Given the description of an element on the screen output the (x, y) to click on. 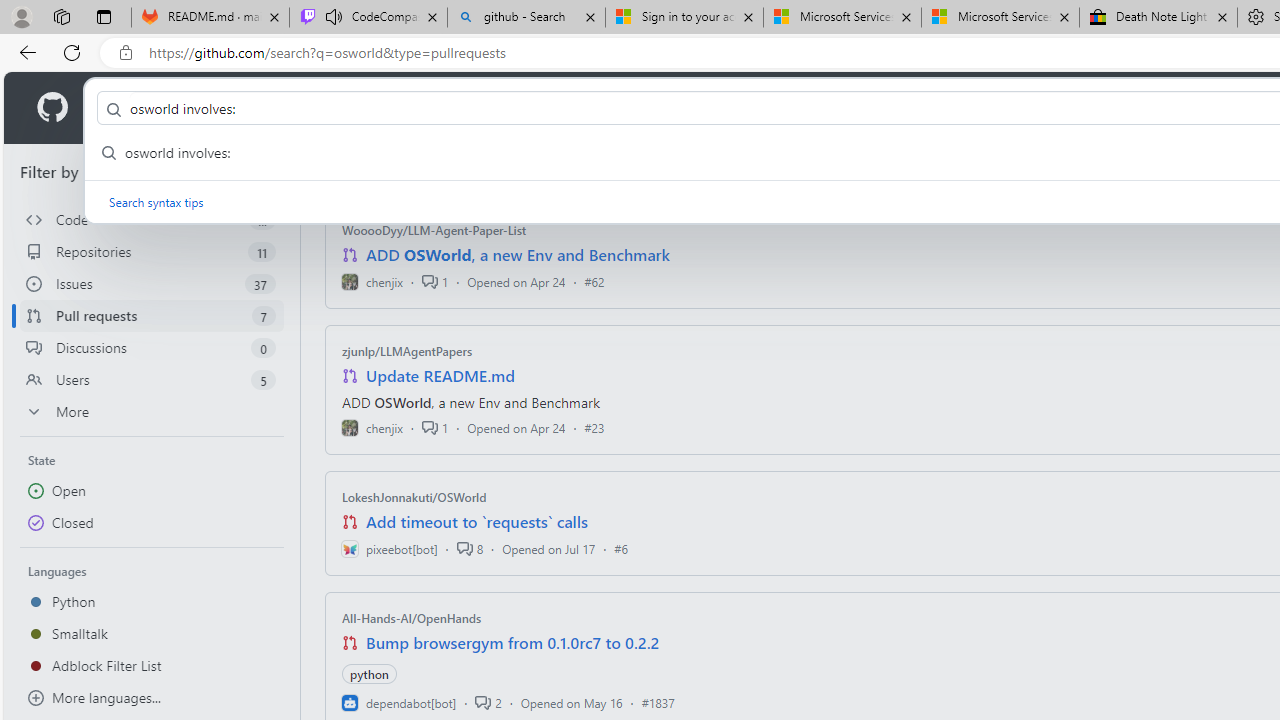
Mute tab (333, 16)
8 (469, 548)
Open Source (446, 107)
Resources (330, 107)
dependabot[bot] (398, 702)
#23 (594, 427)
Solutions (225, 107)
github - Search (526, 17)
Sign in to your account (683, 17)
